Given the description of an element on the screen output the (x, y) to click on. 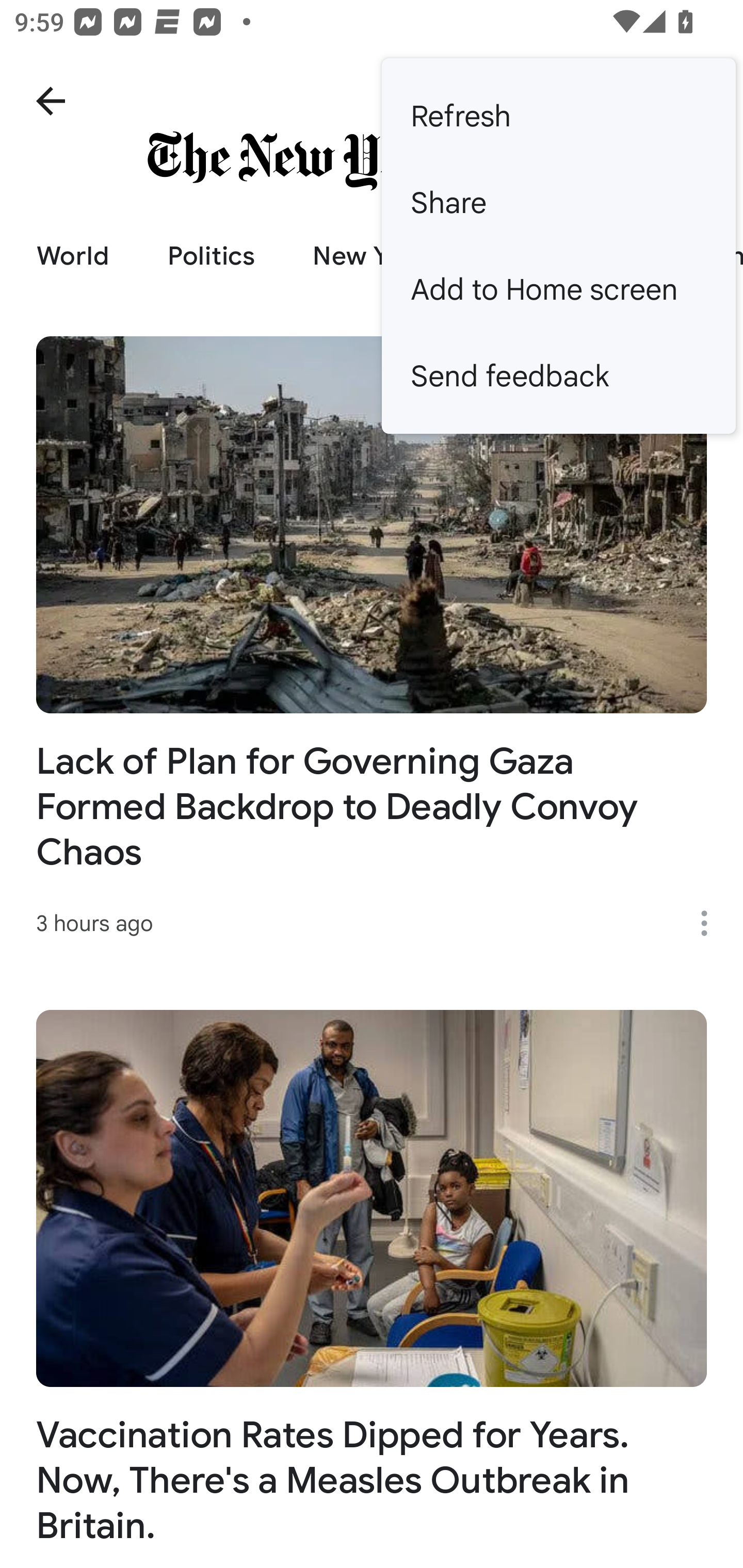
Refresh (558, 115)
Share (558, 202)
Add to Home screen (558, 289)
Send feedback (558, 375)
